Given the description of an element on the screen output the (x, y) to click on. 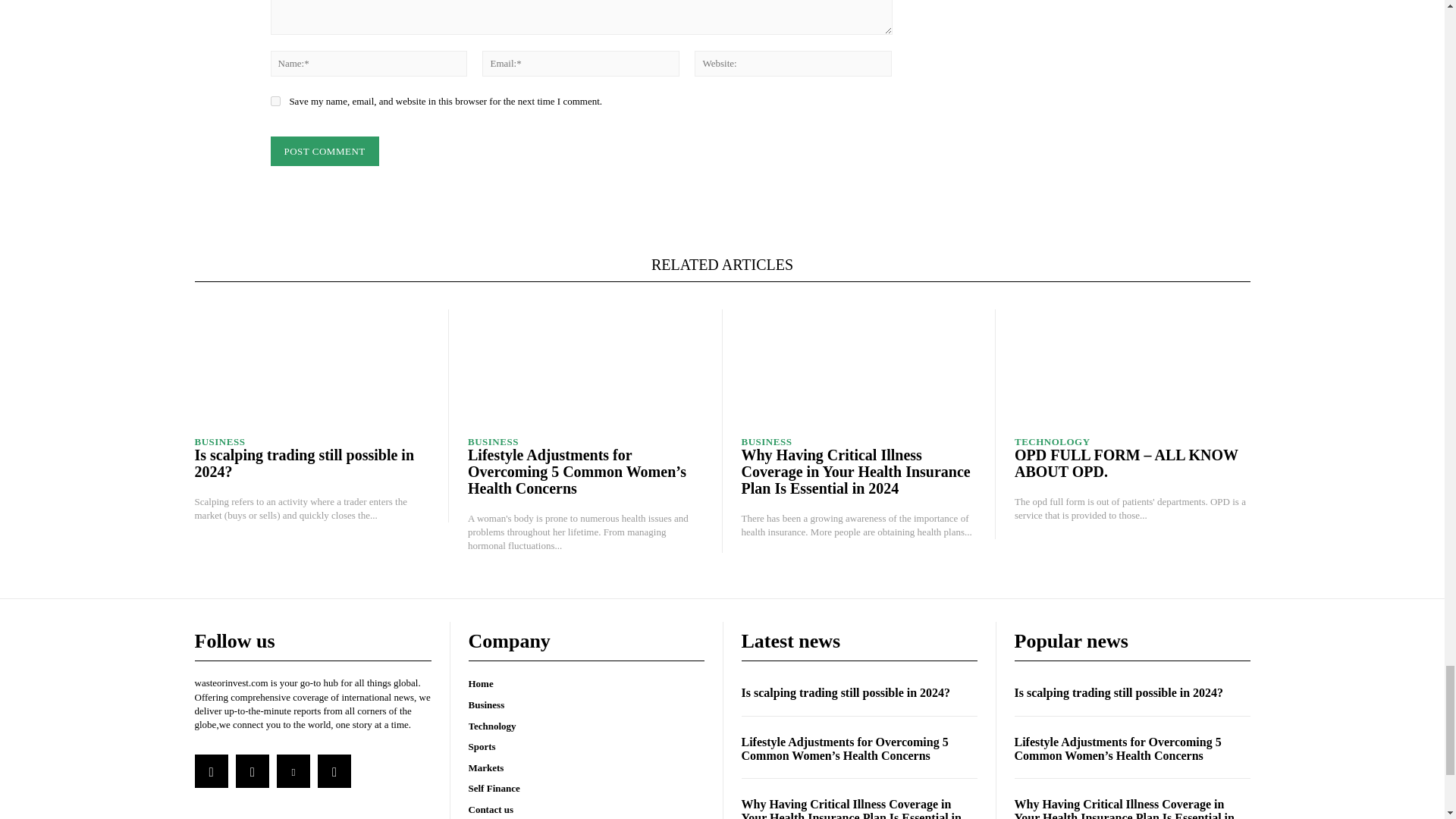
Post Comment (323, 151)
yes (274, 101)
